Given the description of an element on the screen output the (x, y) to click on. 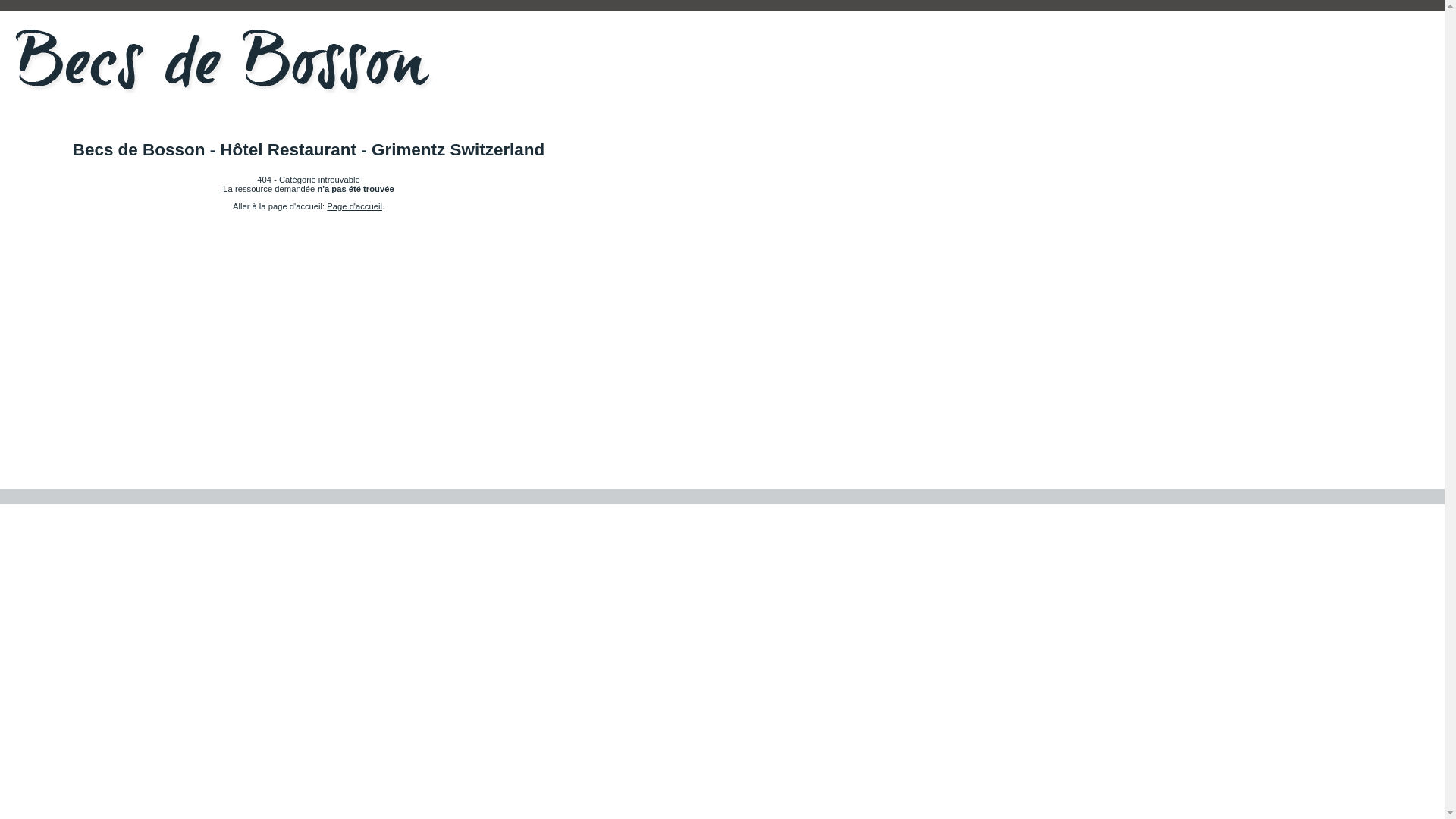
Page d'accueil Element type: text (354, 205)
